Given the description of an element on the screen output the (x, y) to click on. 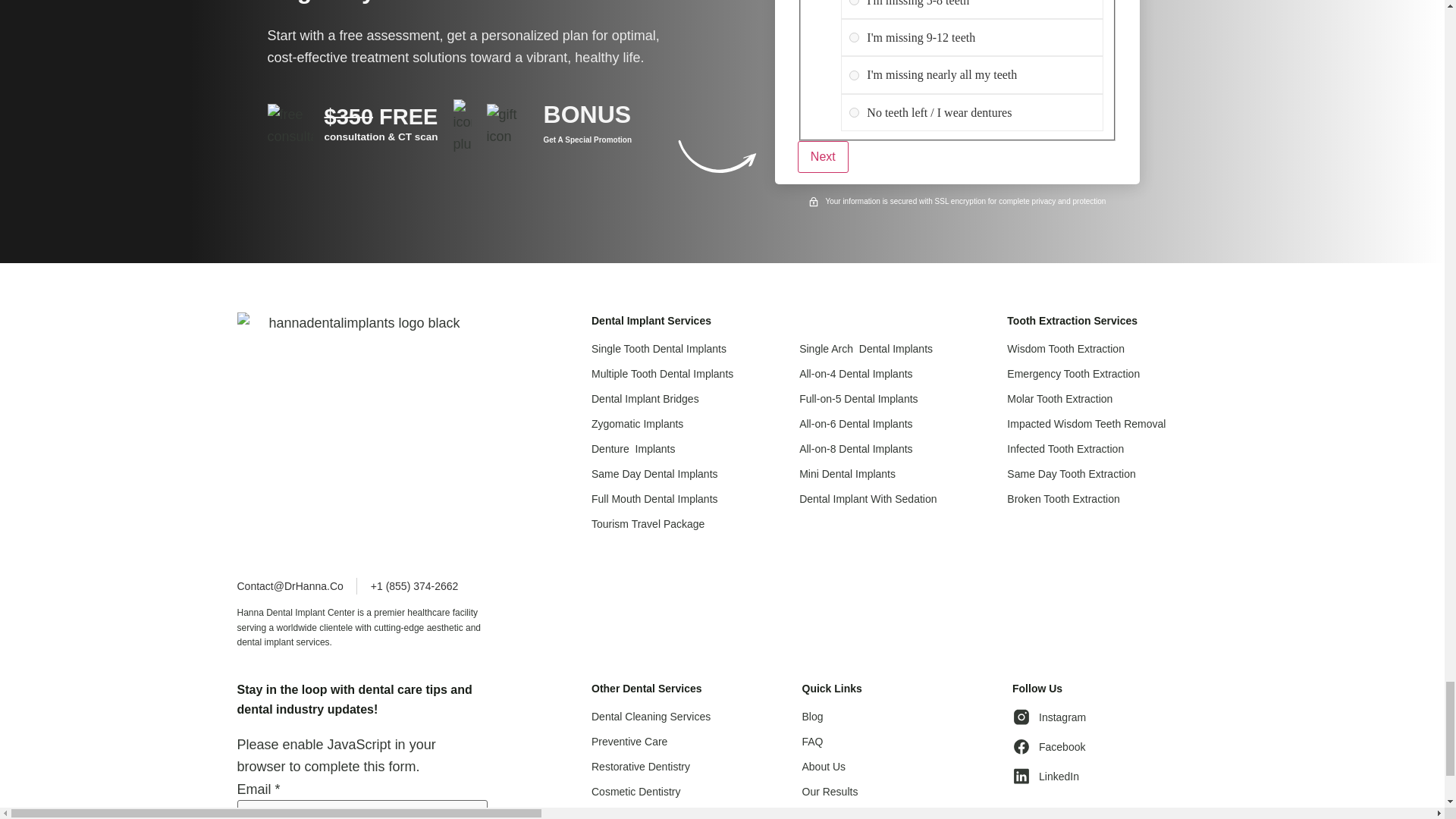
I'm missing 9-12 teeth (853, 37)
I'm missing 5-8 teeth (853, 2)
I'm missing nearly all my teeth (853, 75)
